Given the description of an element on the screen output the (x, y) to click on. 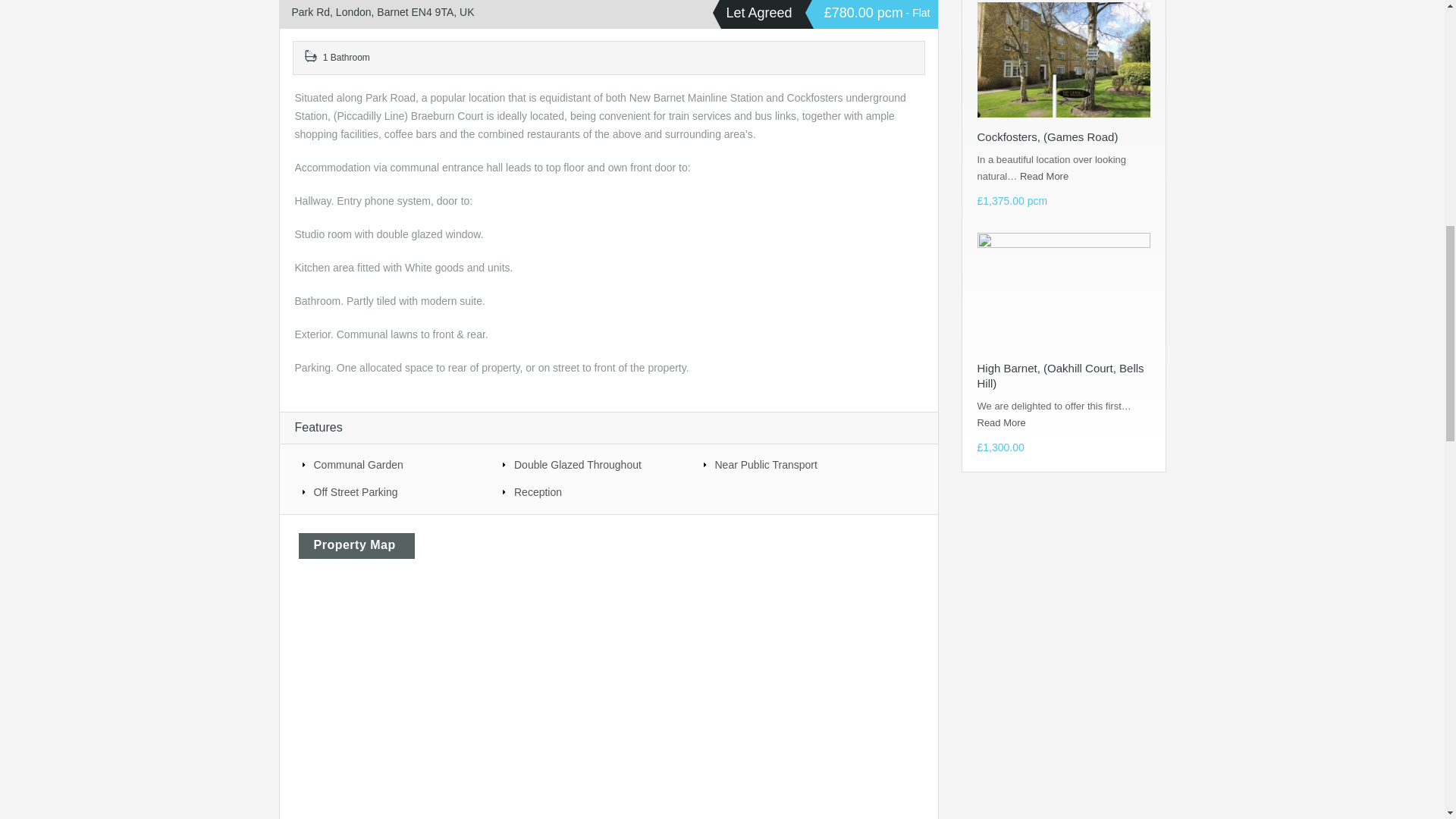
Communal Garden (393, 464)
Near Public Transport (793, 464)
Reception (592, 492)
Double Glazed Throughout (592, 464)
Off Street Parking (393, 492)
